Given the description of an element on the screen output the (x, y) to click on. 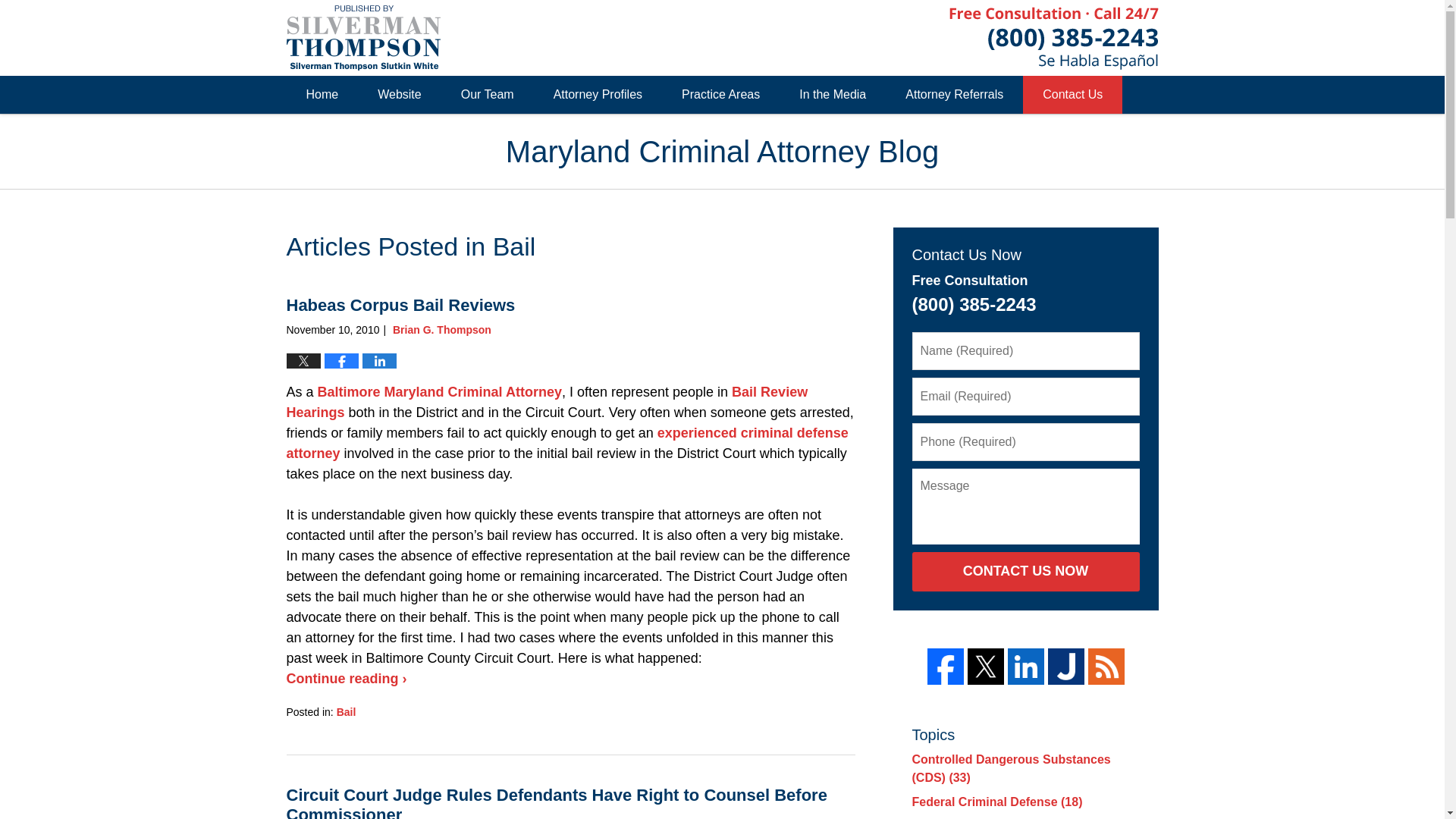
Bail (346, 711)
Permalink to Habeas Corpus Bail Reviews (400, 304)
experienced criminal defense attorney (567, 443)
Justia (1066, 666)
Practice Areas (720, 94)
Home (322, 94)
Our Team (487, 94)
Website (399, 94)
In the Media (831, 94)
Bail Review Hearings (547, 402)
Brian G. Thompson (442, 329)
Please enter a valid phone number. (1024, 442)
Habeas Corpus Bail Reviews (400, 304)
